Given the description of an element on the screen output the (x, y) to click on. 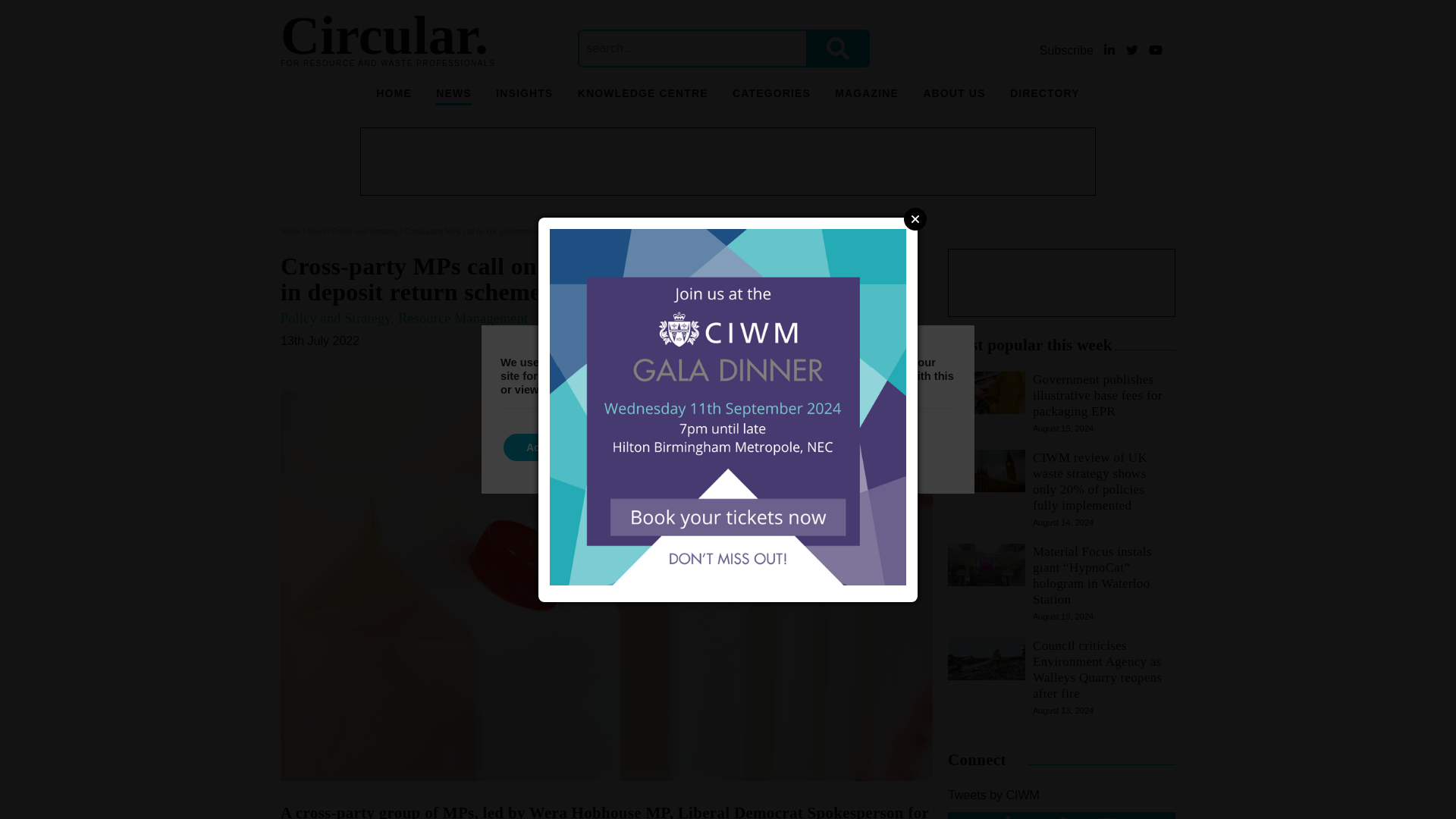
3rd party ad content (727, 161)
3rd party ad content (1060, 282)
KNOWLEDGE CENTRE (642, 95)
INSIGHTS (524, 95)
ABOUT US (954, 95)
CATEGORIES (771, 95)
Circular. (384, 35)
NEWS (452, 95)
MAGAZINE (866, 95)
HOME (392, 95)
